Given the description of an element on the screen output the (x, y) to click on. 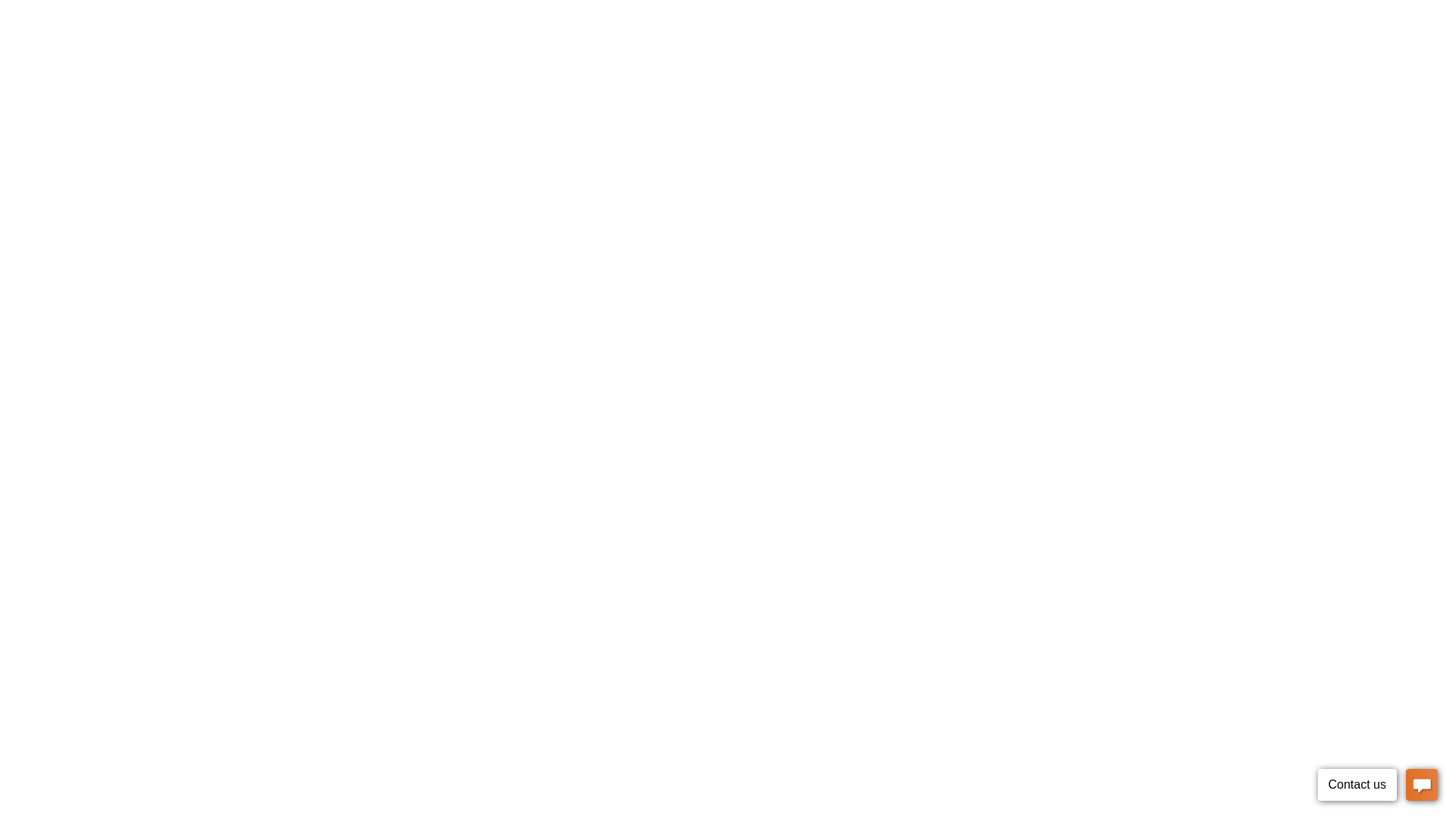
Pure Chat Live Chat Element type: hover (1377, 786)
